Given the description of an element on the screen output the (x, y) to click on. 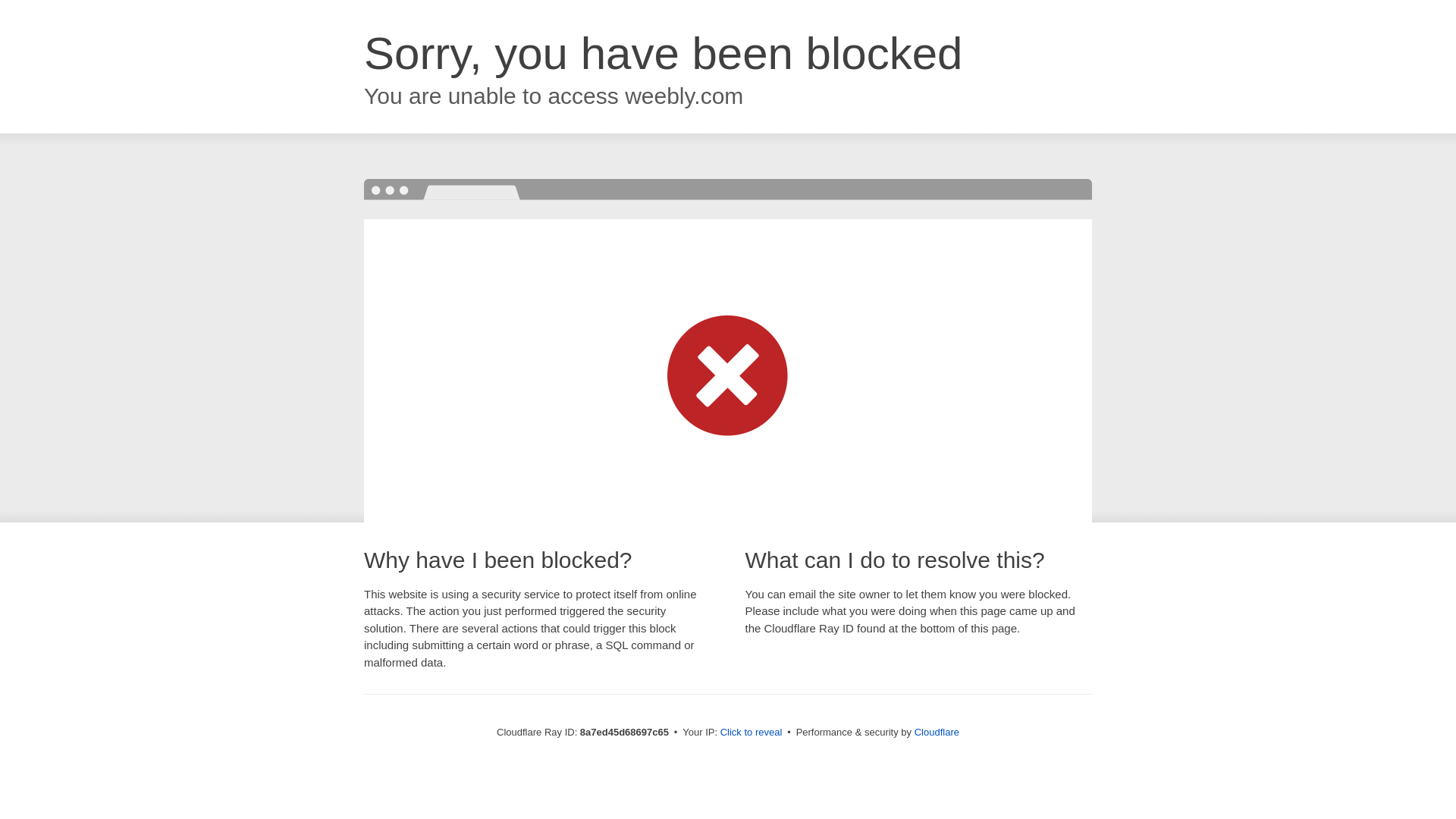
Click to reveal (751, 732)
Cloudflare (936, 731)
